Given the description of an element on the screen output the (x, y) to click on. 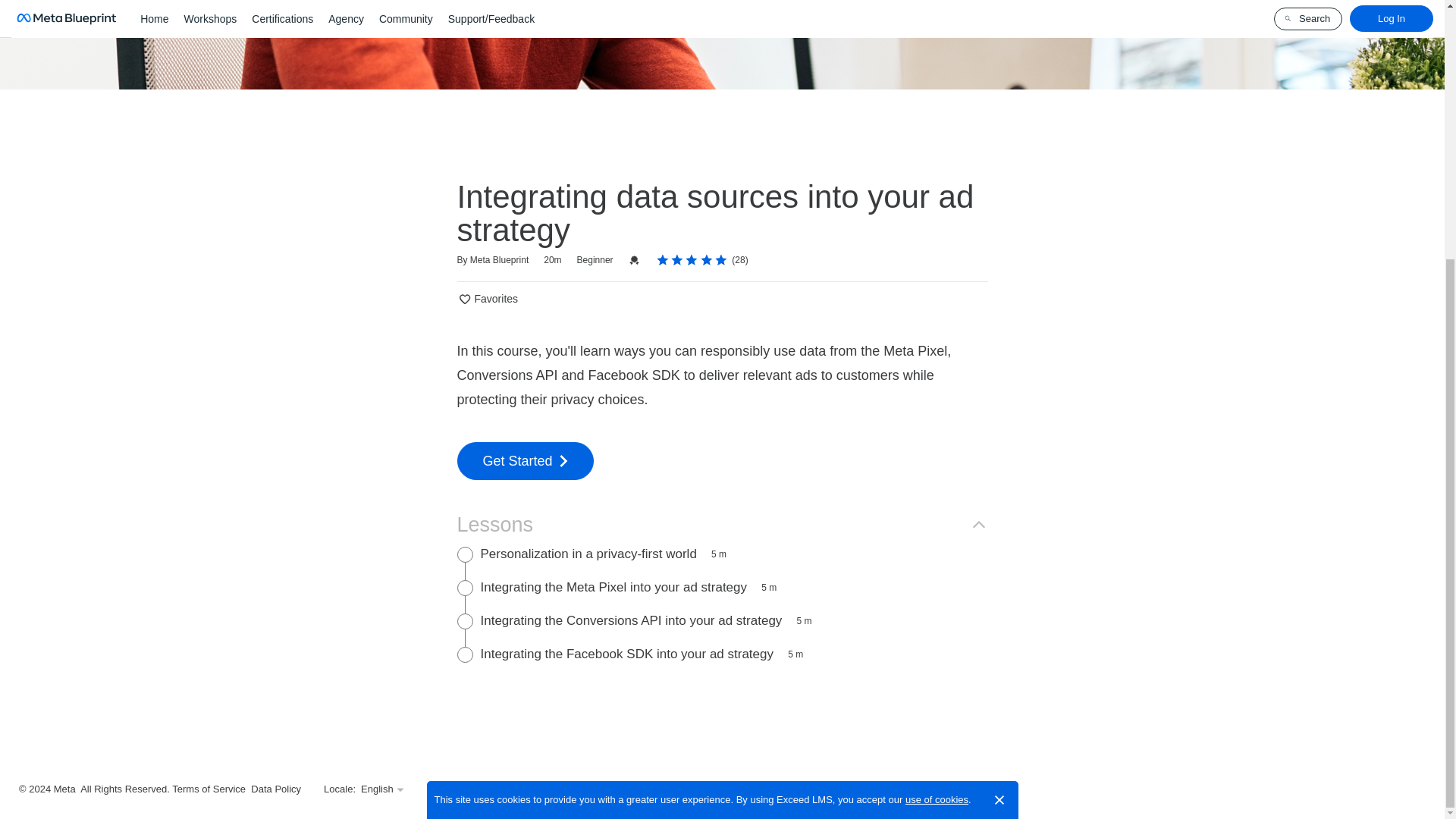
Terms of Service (208, 788)
Lessons (721, 524)
Intellum (515, 789)
Data Policy (275, 788)
Integrating the Conversions API into your ad strategy 5 m (722, 622)
English (382, 789)
use of cookies (936, 429)
Integrating the Meta Pixel into your ad strategy 5 m (722, 588)
